Given the description of an element on the screen output the (x, y) to click on. 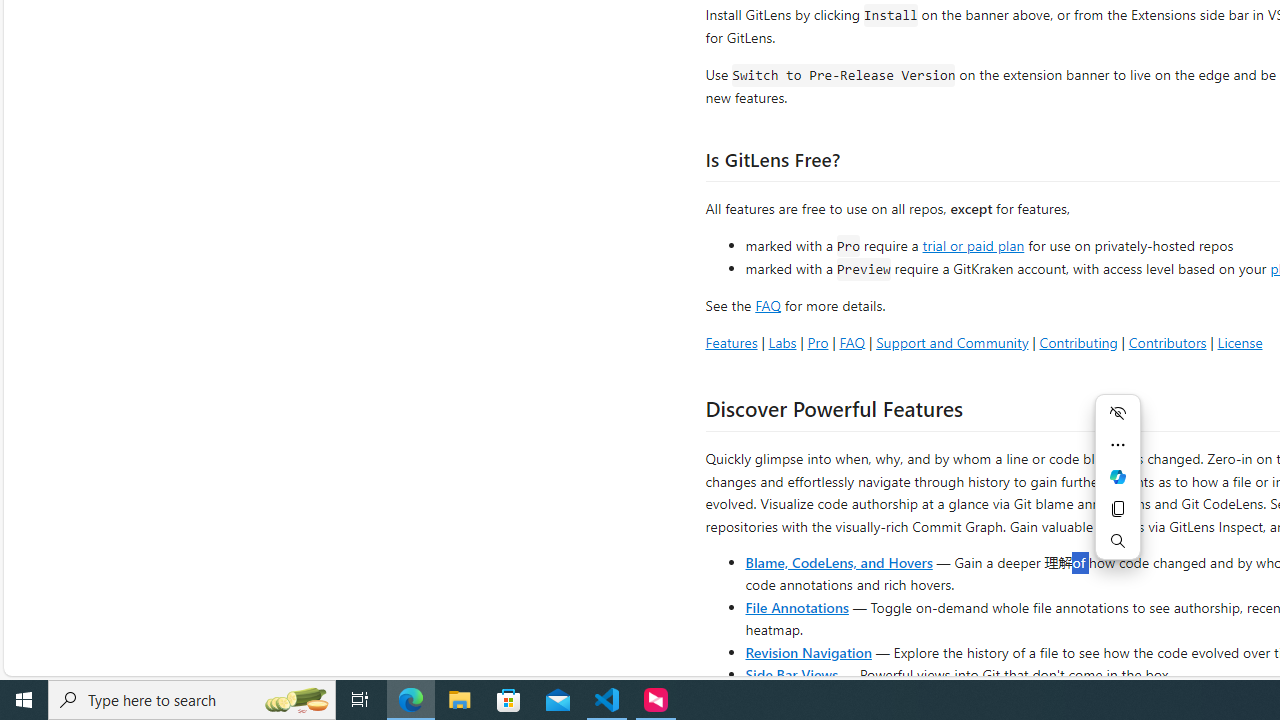
Labs (782, 341)
Contributors (1167, 341)
Copy (1117, 508)
Hide menu (1117, 412)
